Given the description of an element on the screen output the (x, y) to click on. 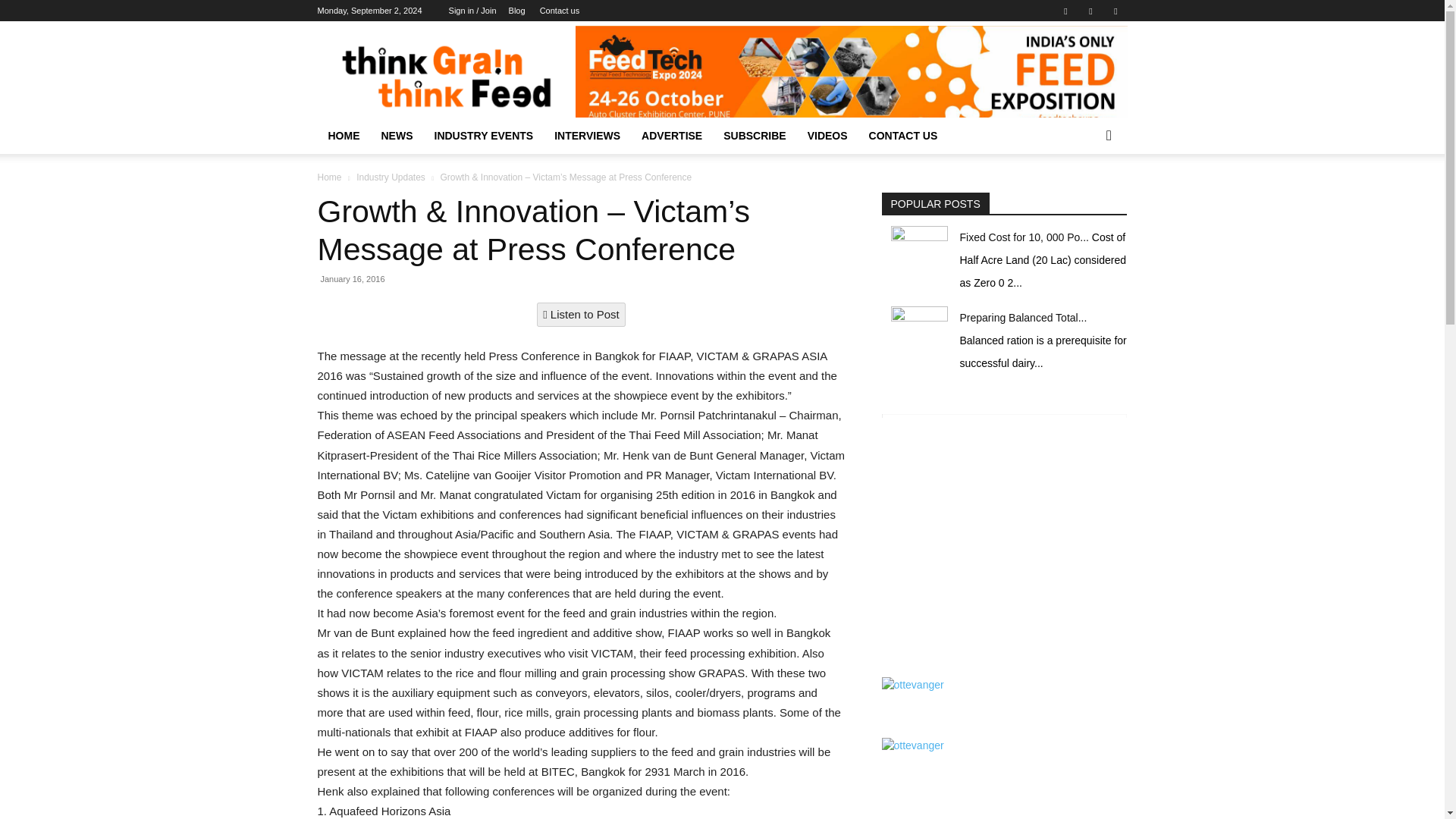
Blog (516, 10)
Twitter (1114, 10)
Contact us (559, 10)
HOME (343, 135)
Linkedin (1090, 10)
Facebook (1065, 10)
View all posts in Industry Updates (390, 176)
NEWS (396, 135)
